Given the description of an element on the screen output the (x, y) to click on. 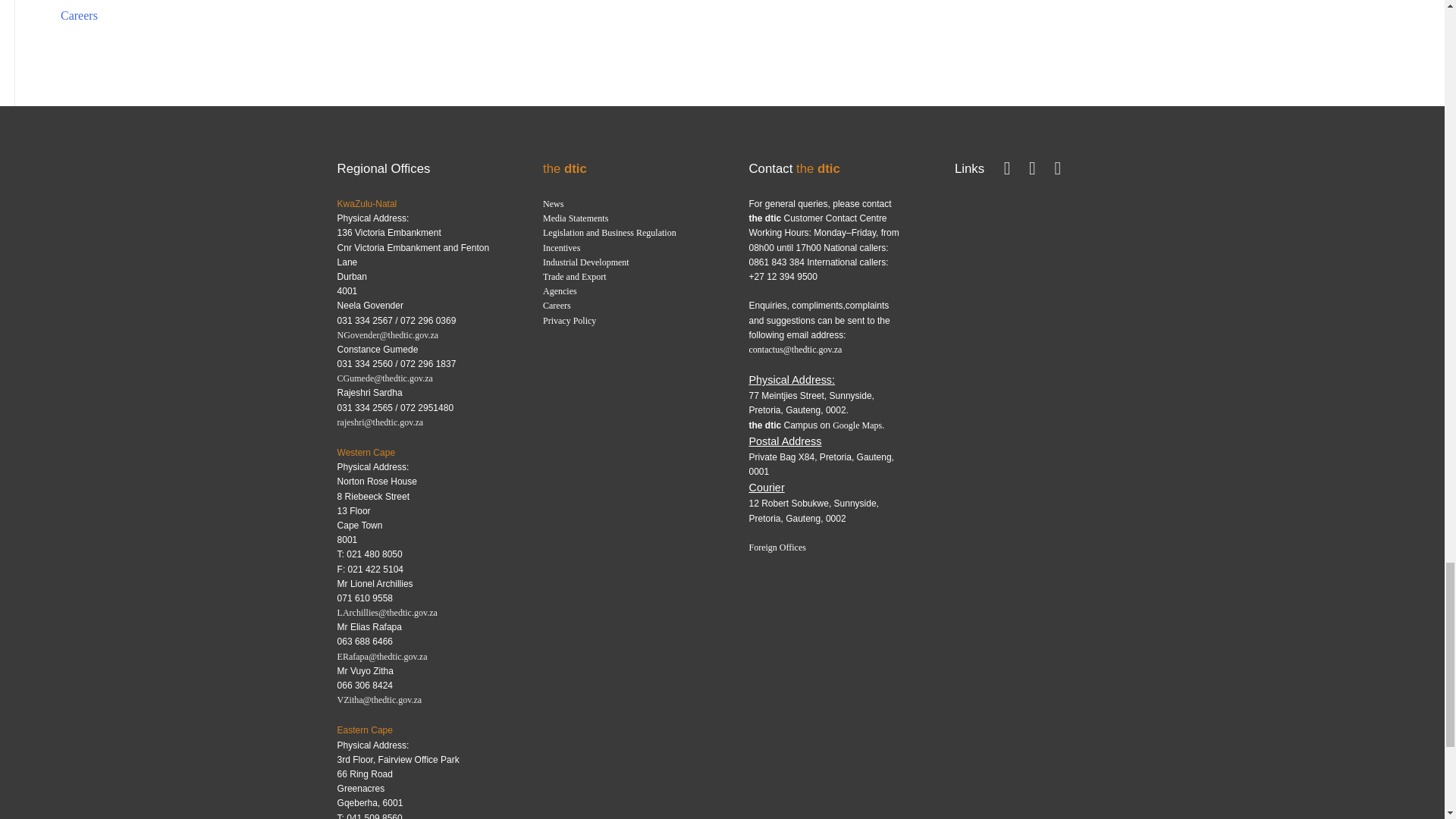
YouTube (1057, 171)
Facebook (1006, 171)
Twitter (1031, 171)
